Given the description of an element on the screen output the (x, y) to click on. 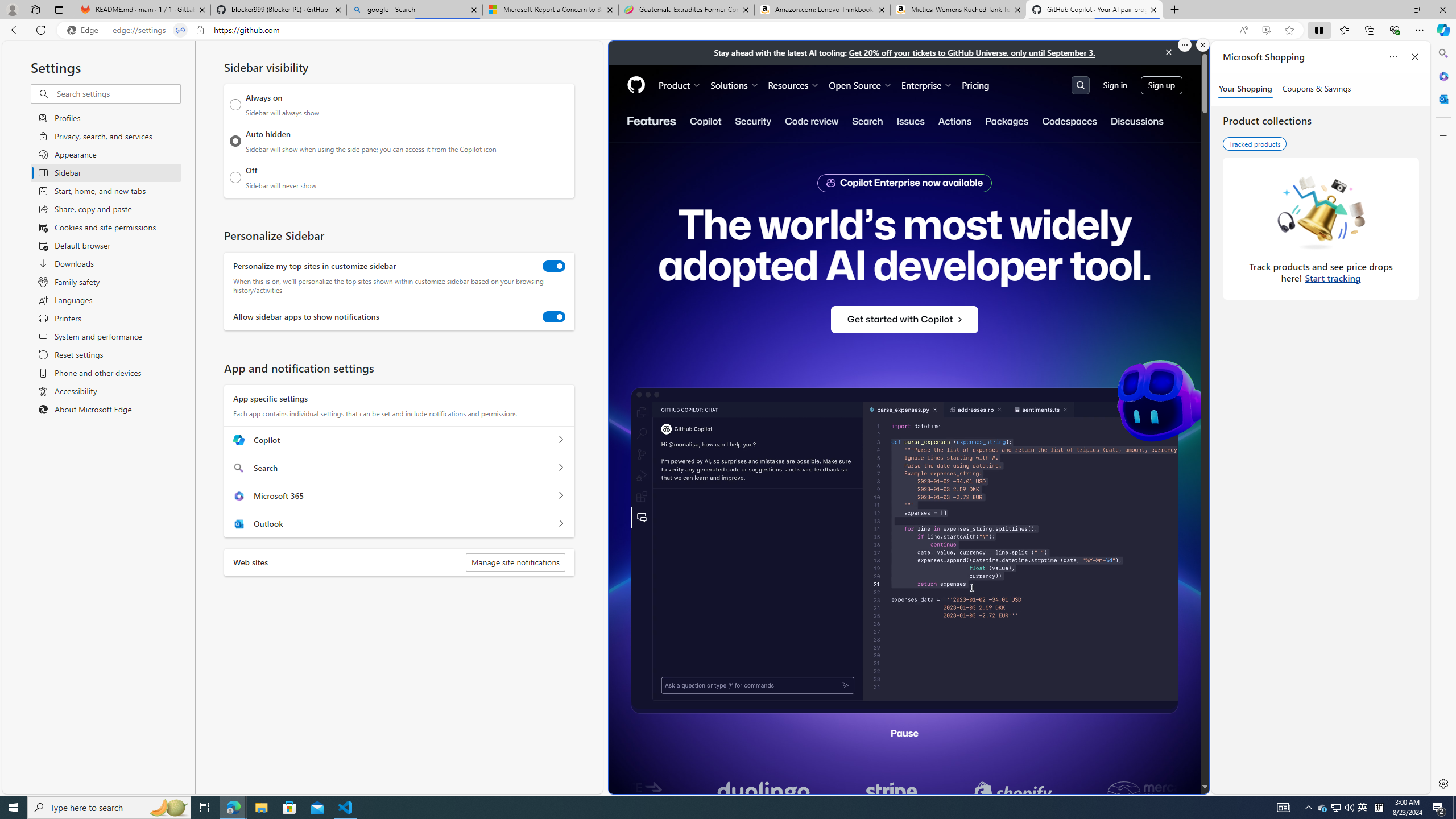
Pricing (975, 84)
Copilot (705, 120)
Issues (910, 120)
Allow sidebar apps to show notifications (553, 316)
More options. (1183, 45)
google - Search (414, 9)
Resources (793, 84)
